Given the description of an element on the screen output the (x, y) to click on. 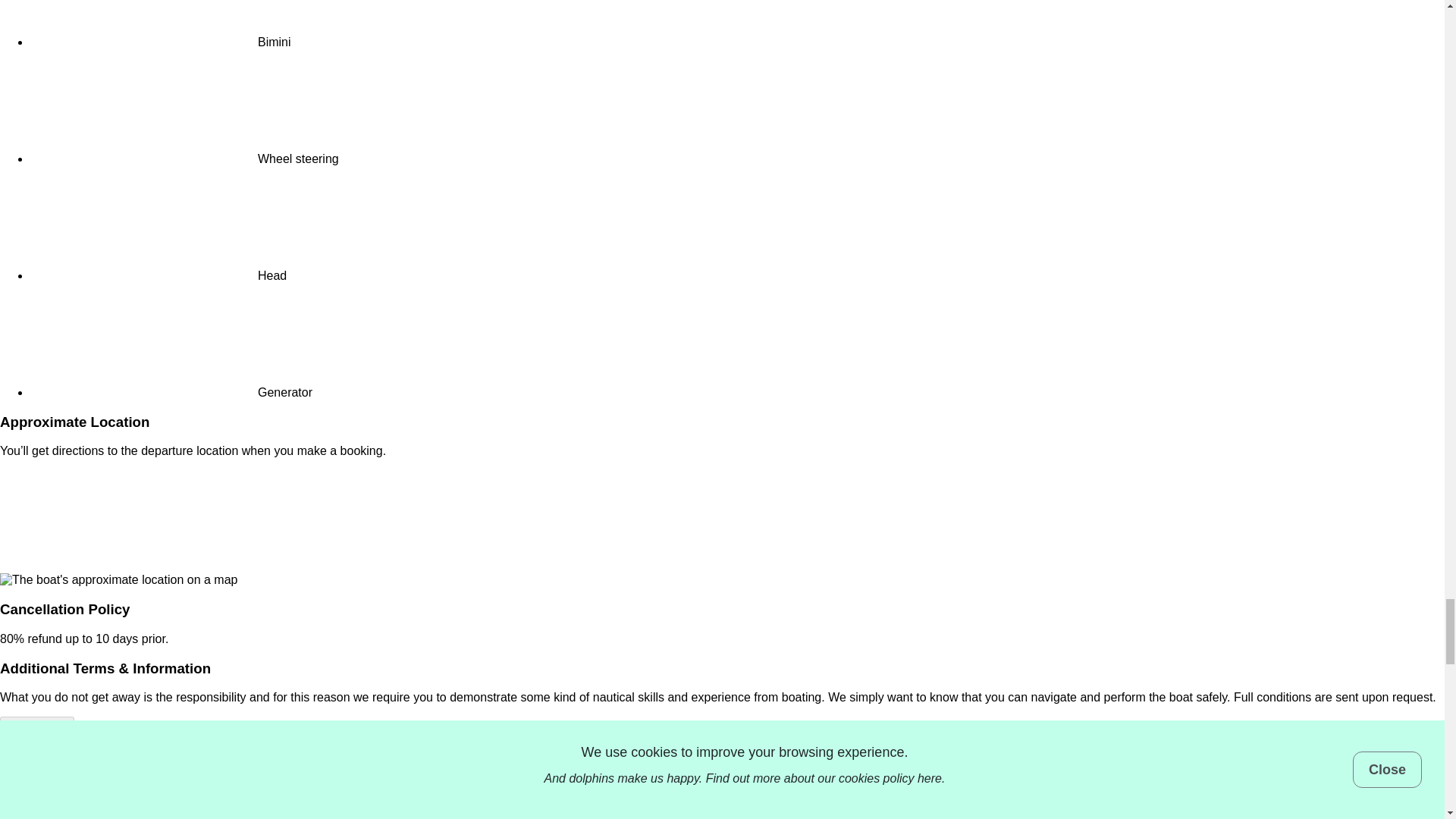
Read more (37, 725)
